Given the description of an element on the screen output the (x, y) to click on. 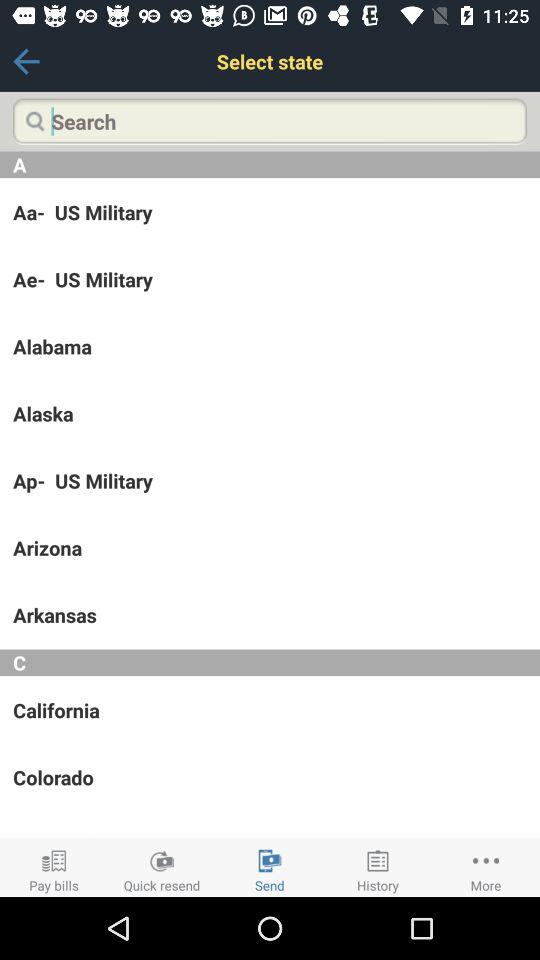
turn off icon above the arkansas (270, 547)
